Given the description of an element on the screen output the (x, y) to click on. 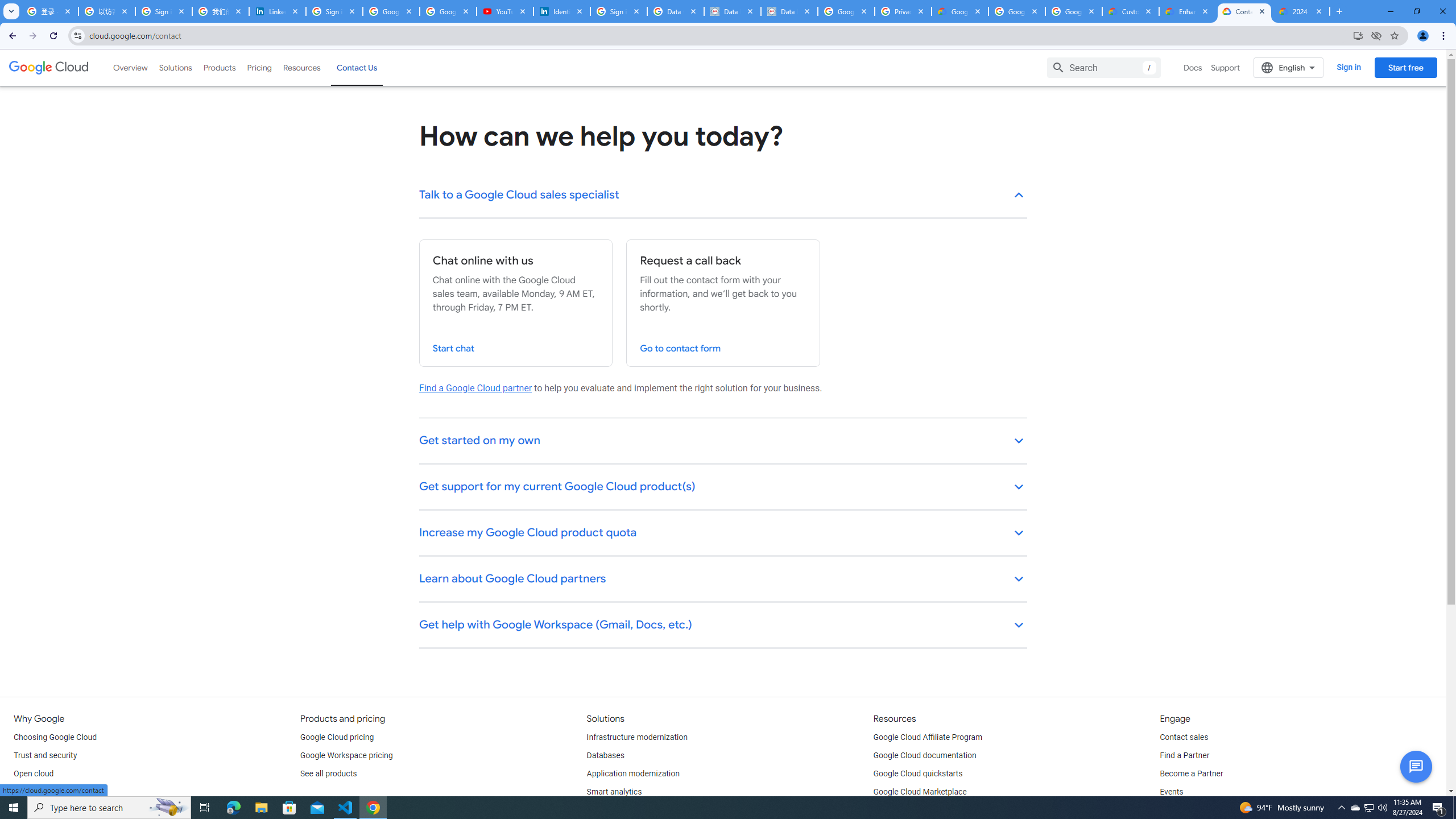
Google Workspace - Specific Terms (1073, 11)
Contact sales (1183, 737)
Increase my Google Cloud product quota keyboard_arrow_down (723, 533)
Products (218, 67)
Become a Partner (1190, 773)
Smart analytics (614, 791)
Data Privacy Framework (788, 11)
Google Workspace - Specific Terms (1015, 11)
